Given the description of an element on the screen output the (x, y) to click on. 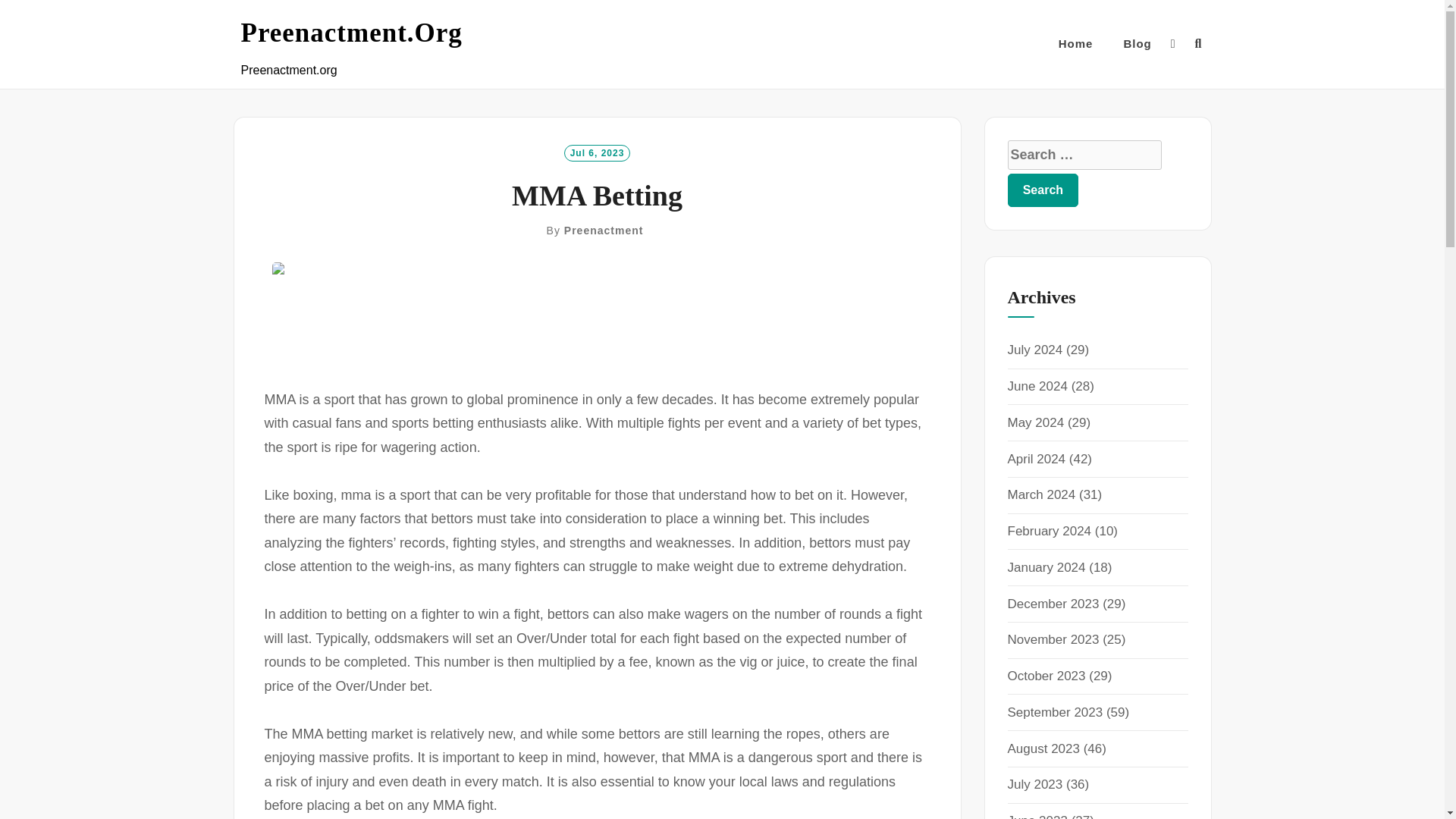
February 2024 (1048, 531)
Search (1042, 190)
July 2023 (1034, 784)
June 2024 (1037, 386)
October 2023 (1045, 676)
Home (1075, 44)
August 2023 (1042, 748)
June 2023 (1037, 816)
April 2024 (1036, 459)
Preenactment.Org (352, 33)
September 2023 (1054, 712)
Search (1042, 190)
Preenactment (603, 230)
Jul 6, 2023 (597, 152)
July 2024 (1034, 350)
